Given the description of an element on the screen output the (x, y) to click on. 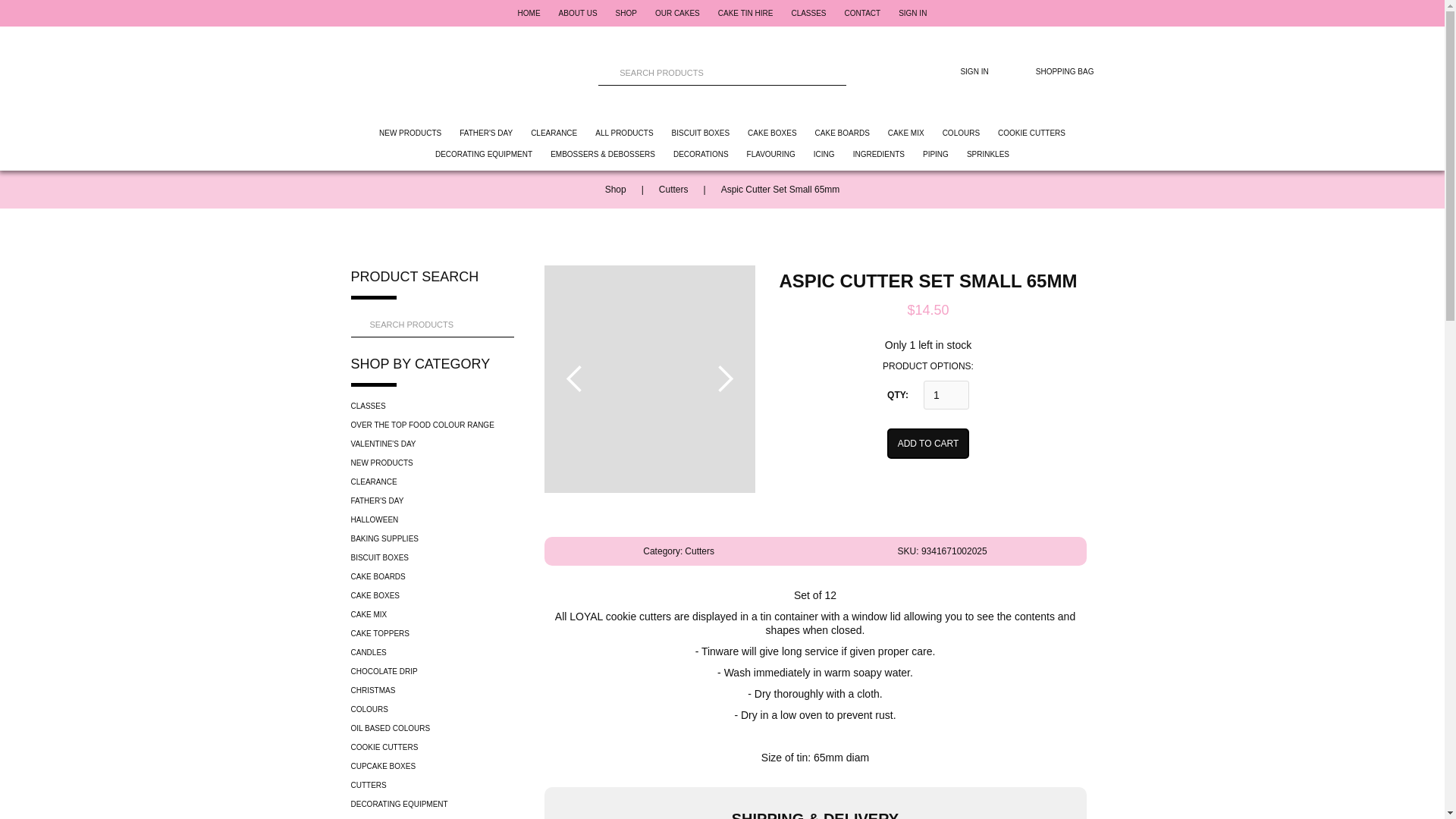
SHOP (626, 12)
CONTACT (862, 12)
OUR CAKES (677, 12)
CAKE BOARDS (842, 133)
ICING (823, 154)
CLEARANCE (553, 133)
SIGN IN (912, 12)
DECORATIONS (700, 154)
DECORATING EQUIPMENT (483, 154)
CAKE BOXES (772, 133)
